Given the description of an element on the screen output the (x, y) to click on. 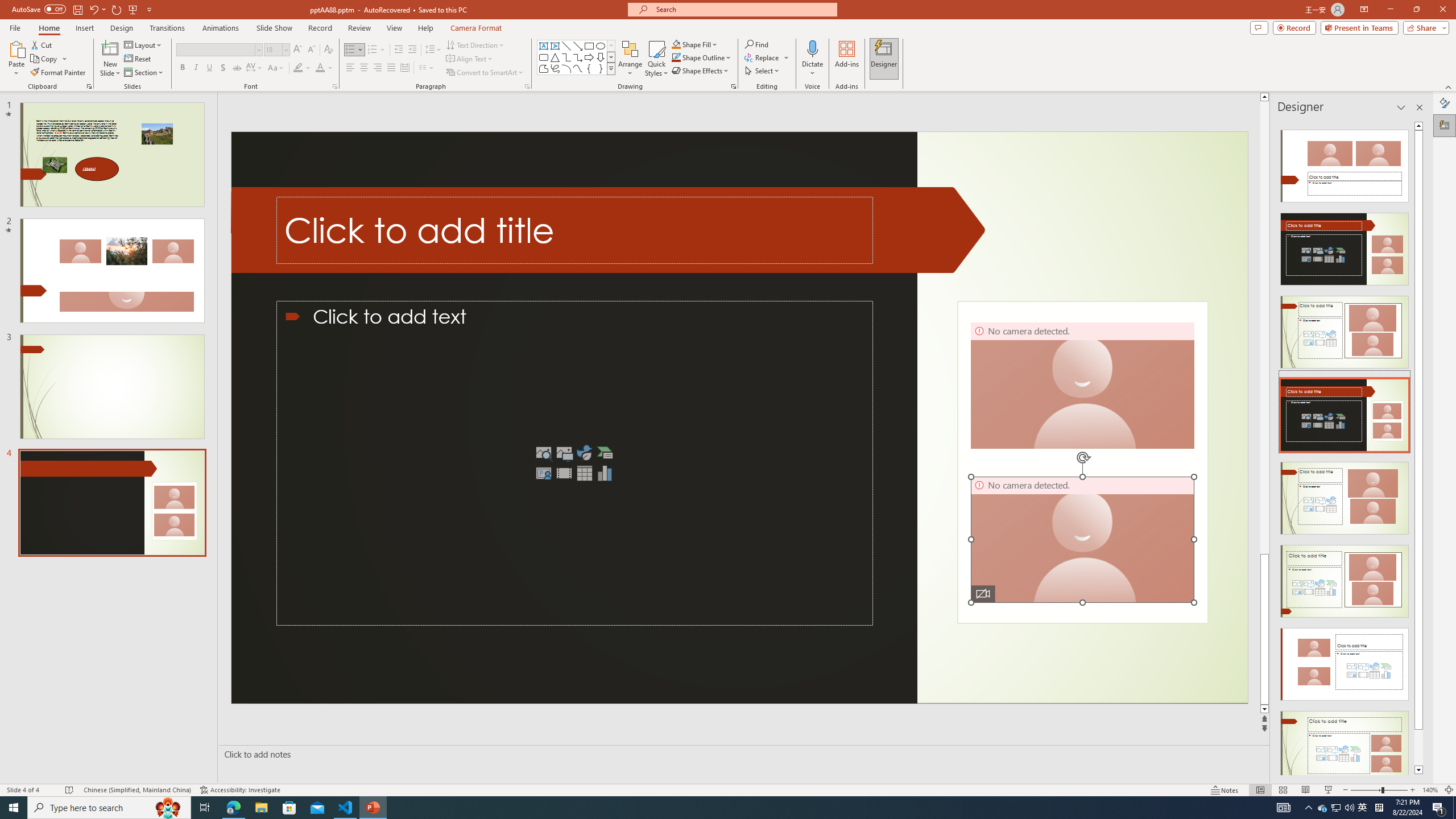
Designer (1444, 125)
Shape Fill (694, 44)
Quick Styles (656, 58)
Arrow: Right (589, 57)
Camera 3, No camera detected. (1082, 385)
Increase Font Size (297, 49)
Insert Cameo (543, 473)
Bullets (349, 49)
Recommended Design: Design Idea (1344, 162)
Arrow: Down (600, 57)
